Given the description of an element on the screen output the (x, y) to click on. 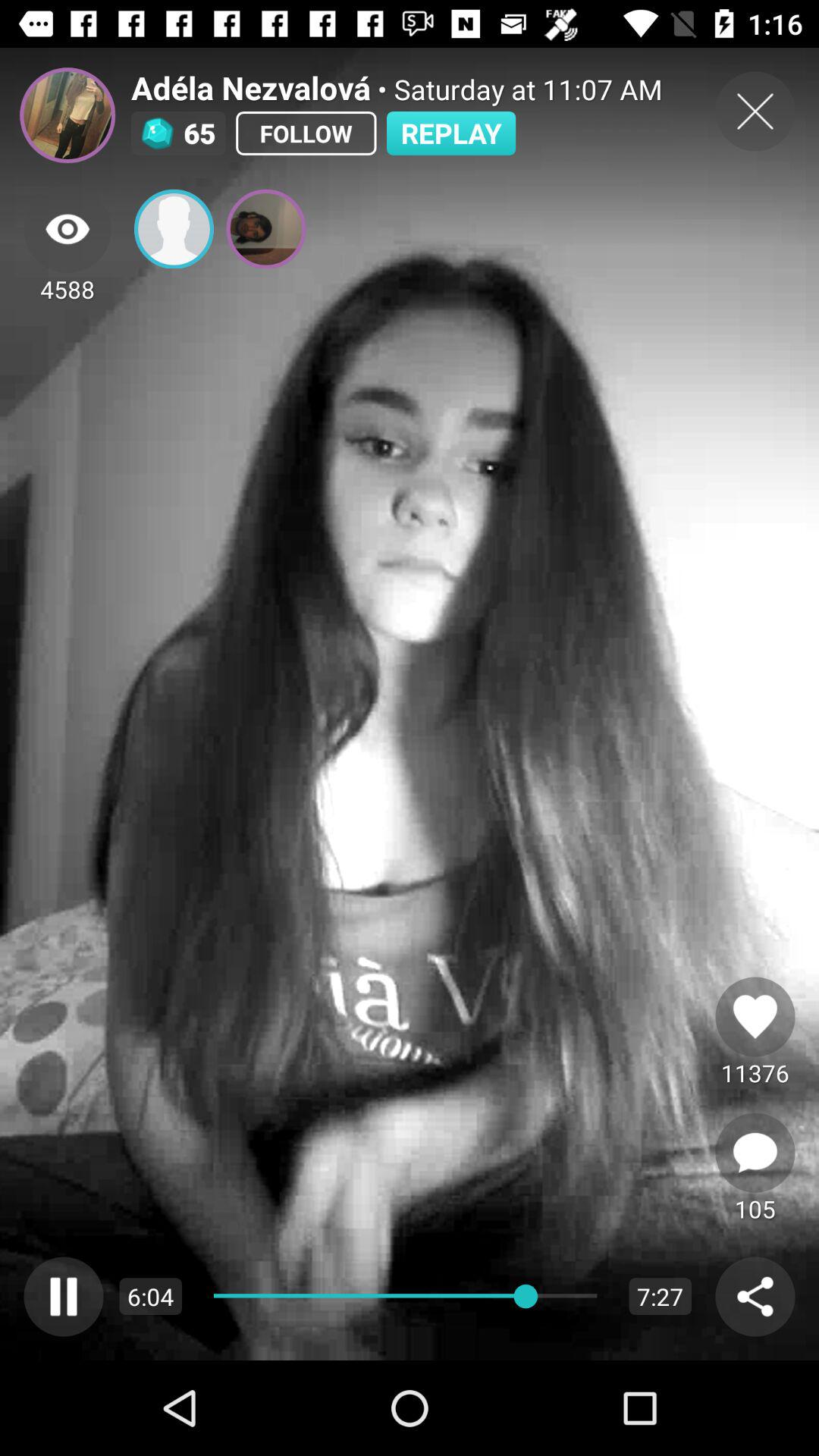
share (755, 1296)
